Given the description of an element on the screen output the (x, y) to click on. 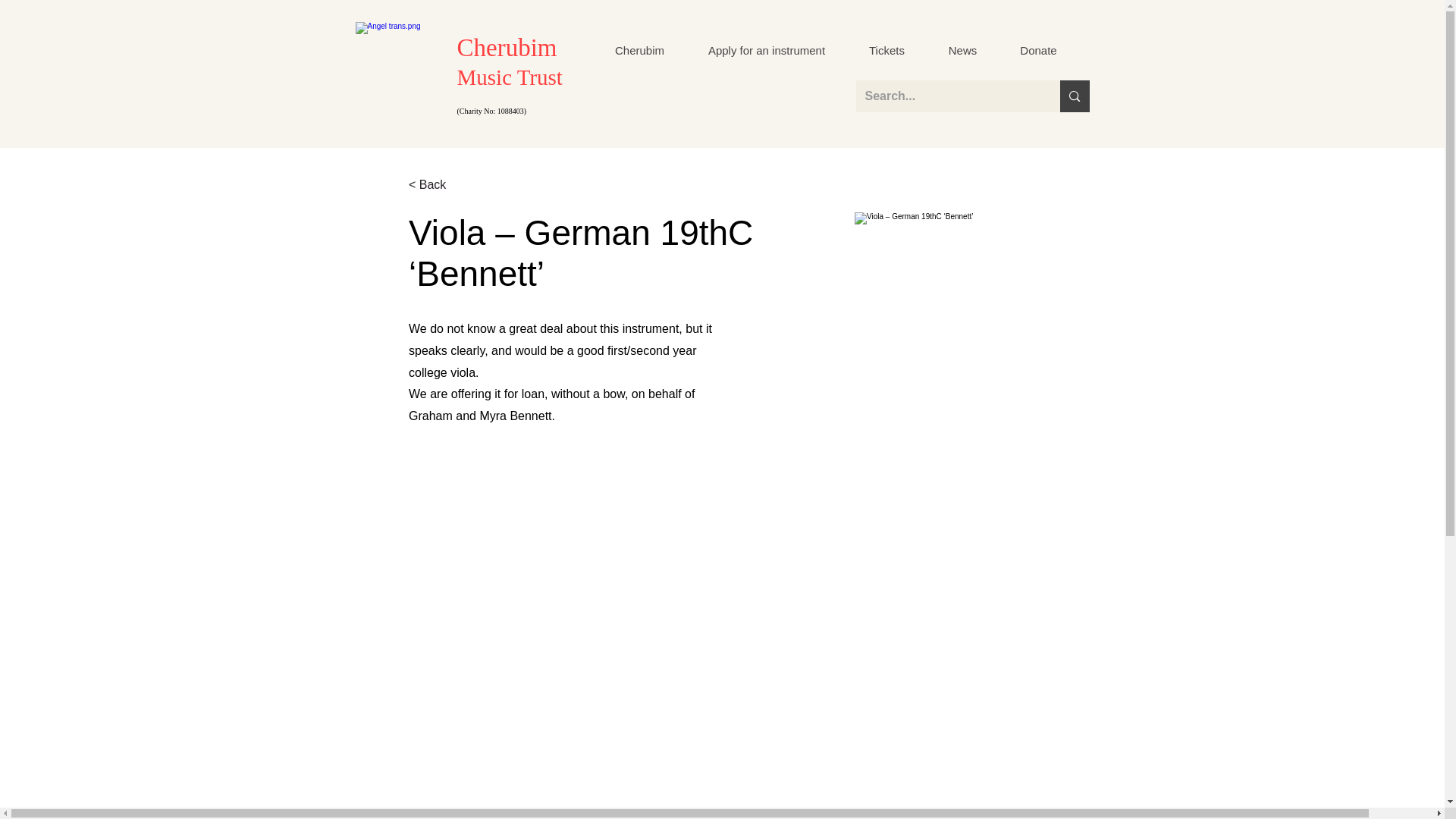
Tickets (885, 50)
News (962, 50)
Cherubim (506, 47)
Bennett viola fr 6203 sm.jpeg (1002, 360)
Donate (1037, 50)
Apply for an instrument (765, 50)
Cherubim (638, 50)
Music Trust (509, 77)
